Given the description of an element on the screen output the (x, y) to click on. 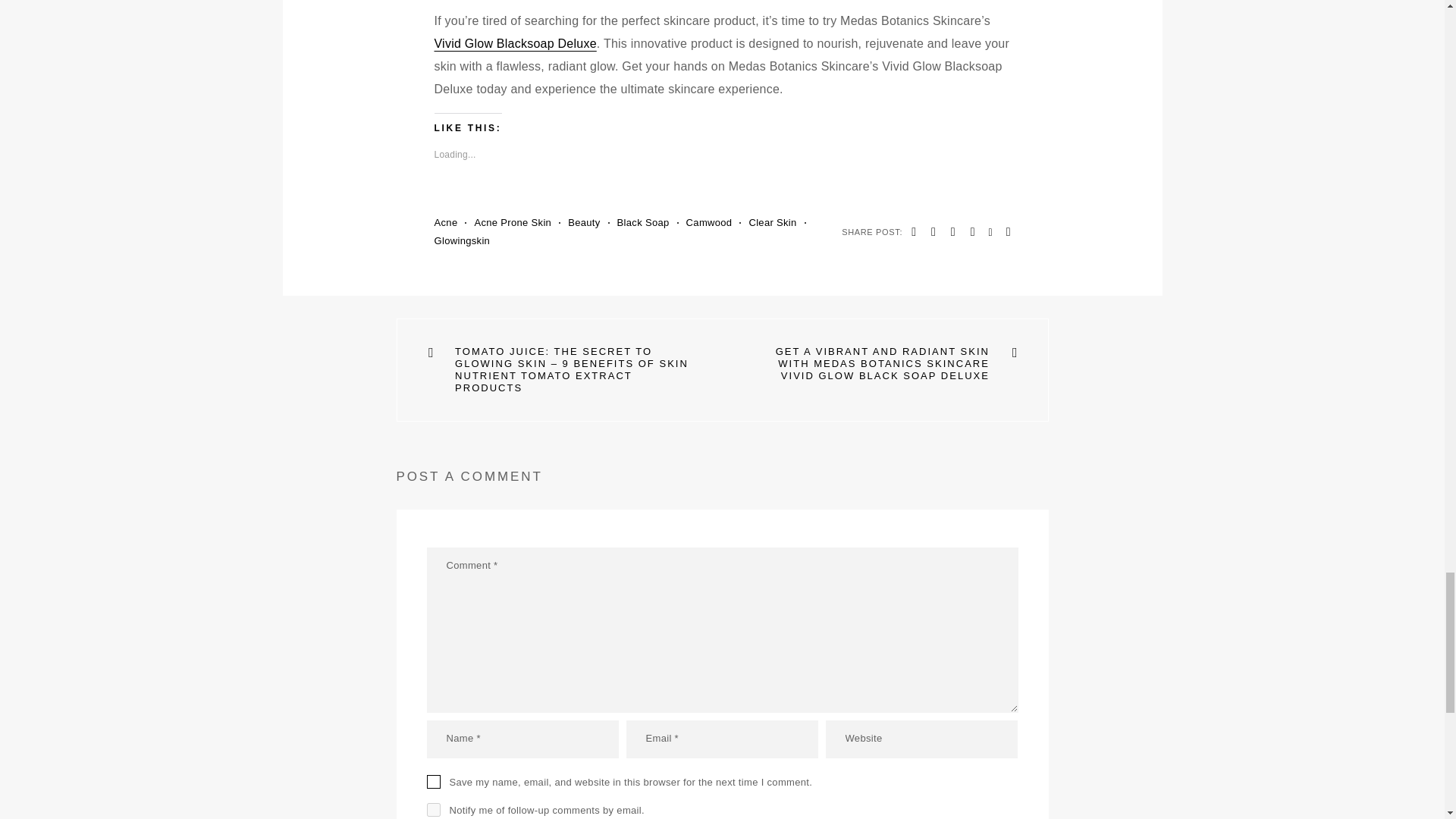
Share on Facebook (913, 231)
subscribe (432, 809)
Share on Twitter (933, 231)
Pin on Pinterest (952, 231)
yes (432, 781)
